Given the description of an element on the screen output the (x, y) to click on. 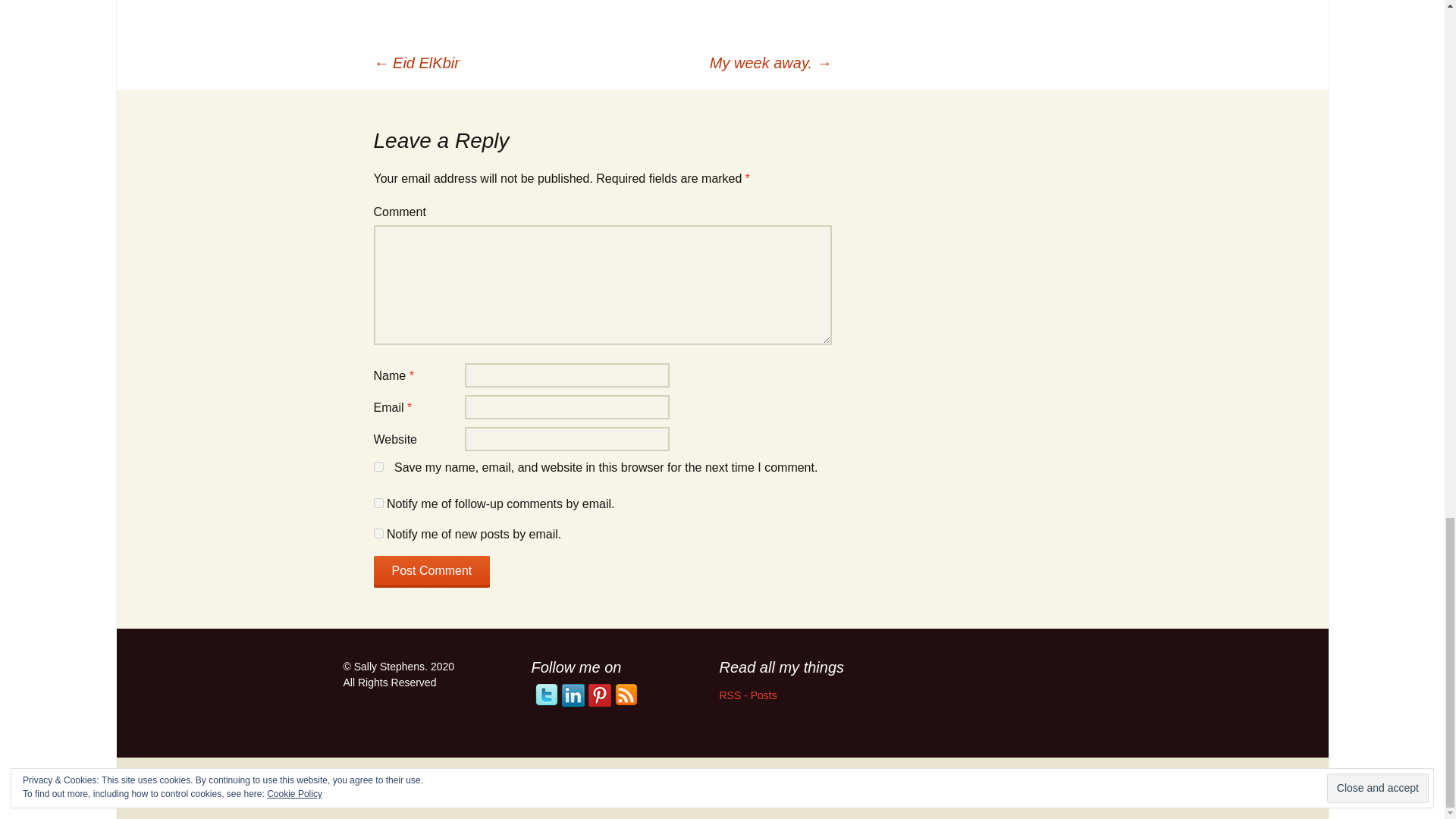
Proudly powered by WordPress (402, 787)
Subscribe to Posts (747, 695)
subscribe (377, 502)
yes (377, 466)
Post Comment (430, 572)
Post Comment (430, 572)
subscribe (377, 533)
RSS - Posts (747, 695)
